Given the description of an element on the screen output the (x, y) to click on. 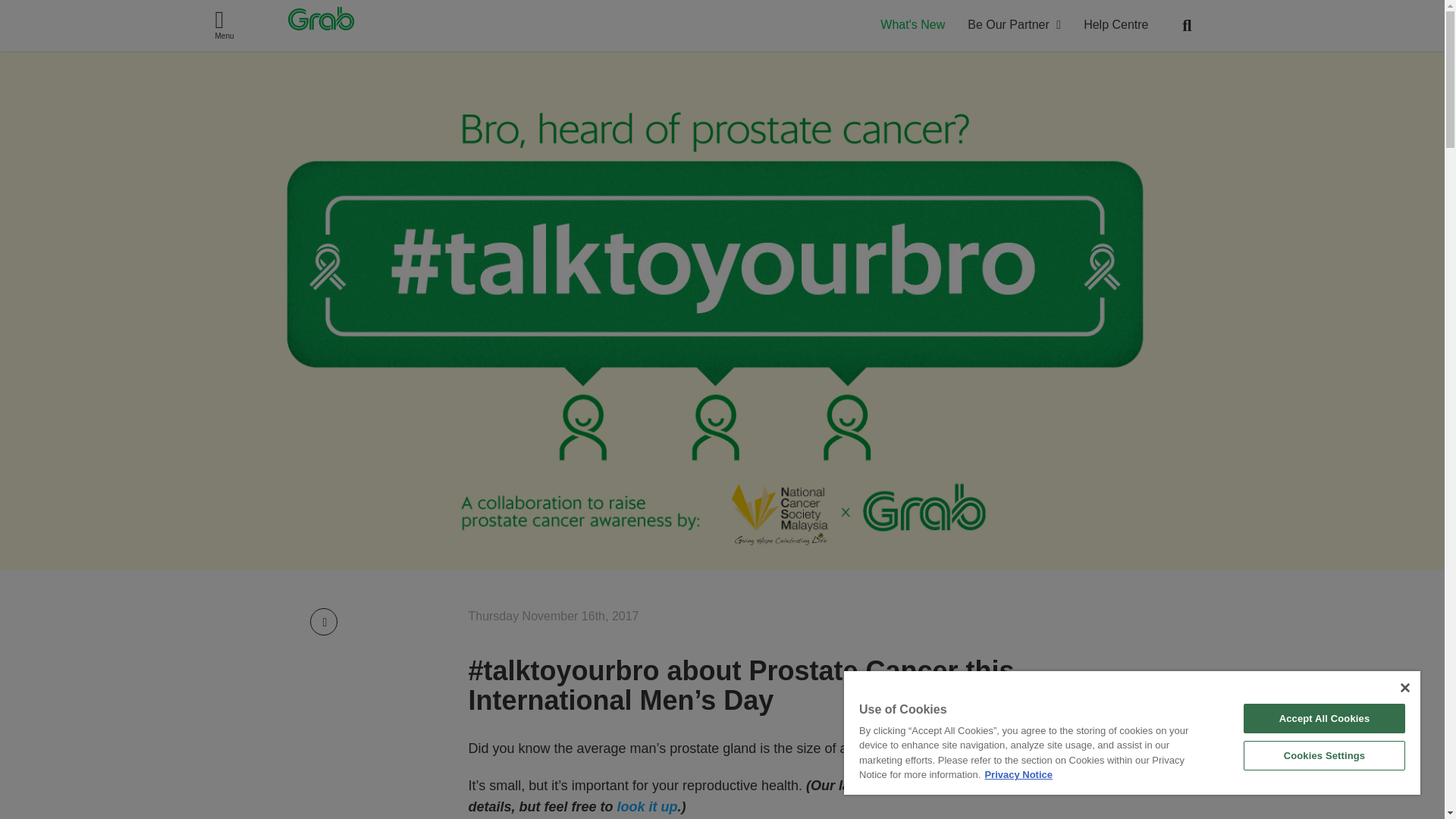
Menu (226, 25)
